Given the description of an element on the screen output the (x, y) to click on. 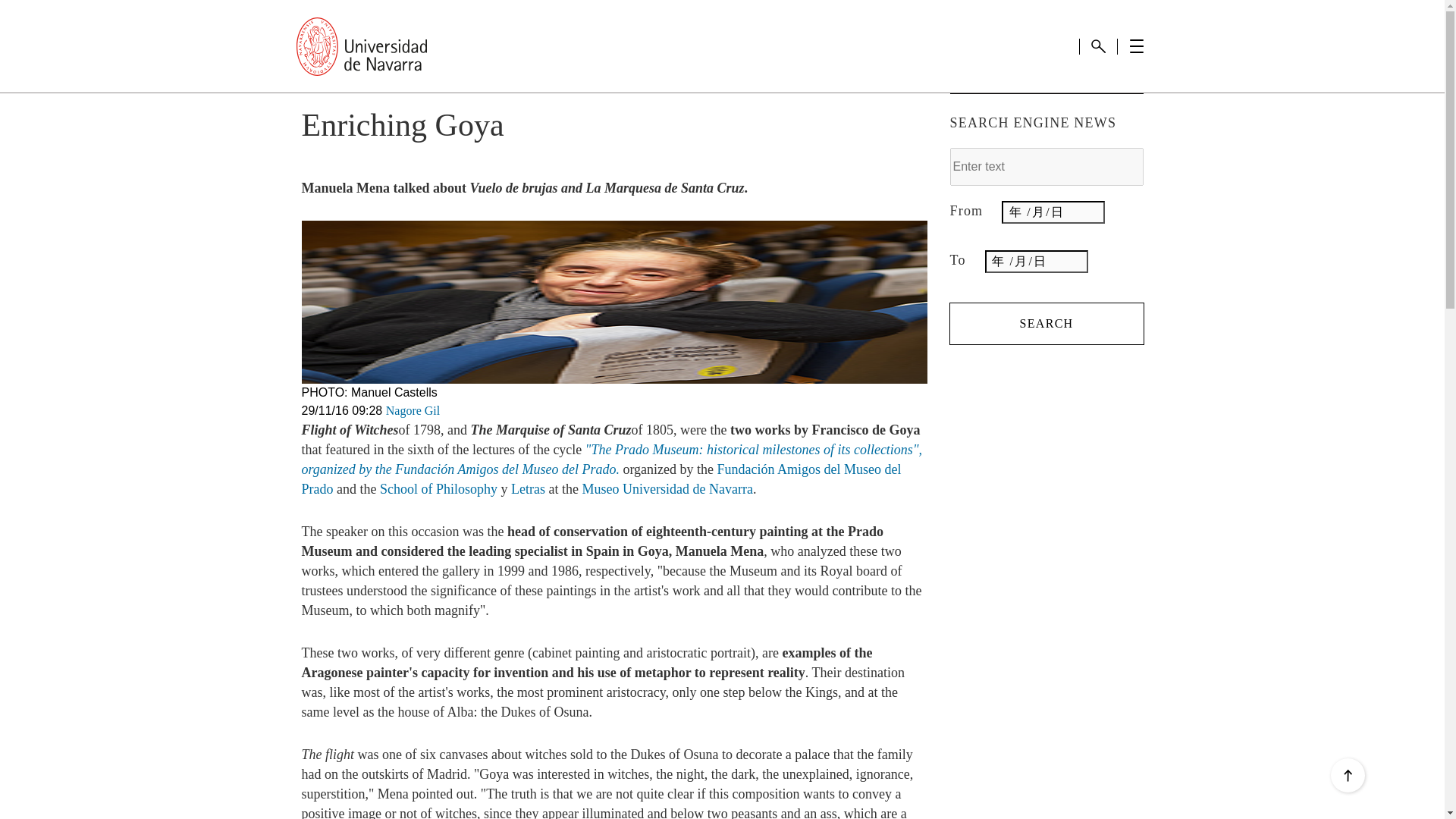
Selection of language (1059, 44)
Search (1098, 46)
Open menu (1136, 46)
University of Navarra (360, 46)
